Given the description of an element on the screen output the (x, y) to click on. 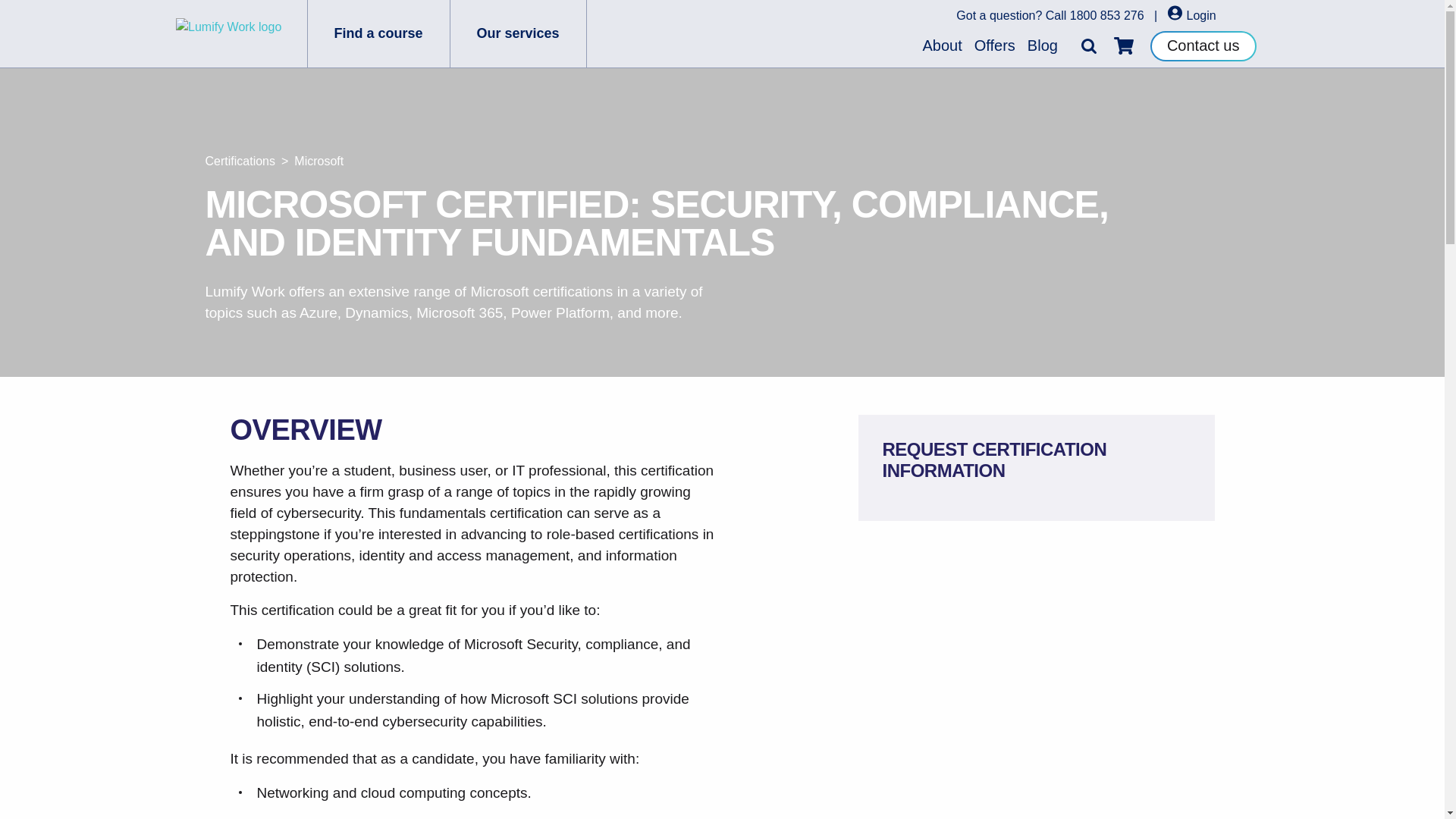
Contact us (1203, 45)
Offers (995, 45)
Blog (1043, 45)
Microsoft (318, 160)
1800 853 276 (1107, 15)
Certifications (240, 160)
Find a course (378, 33)
Our services (517, 33)
Checkout (1123, 46)
Login (1191, 15)
About (941, 45)
homepage (241, 33)
